Given the description of an element on the screen output the (x, y) to click on. 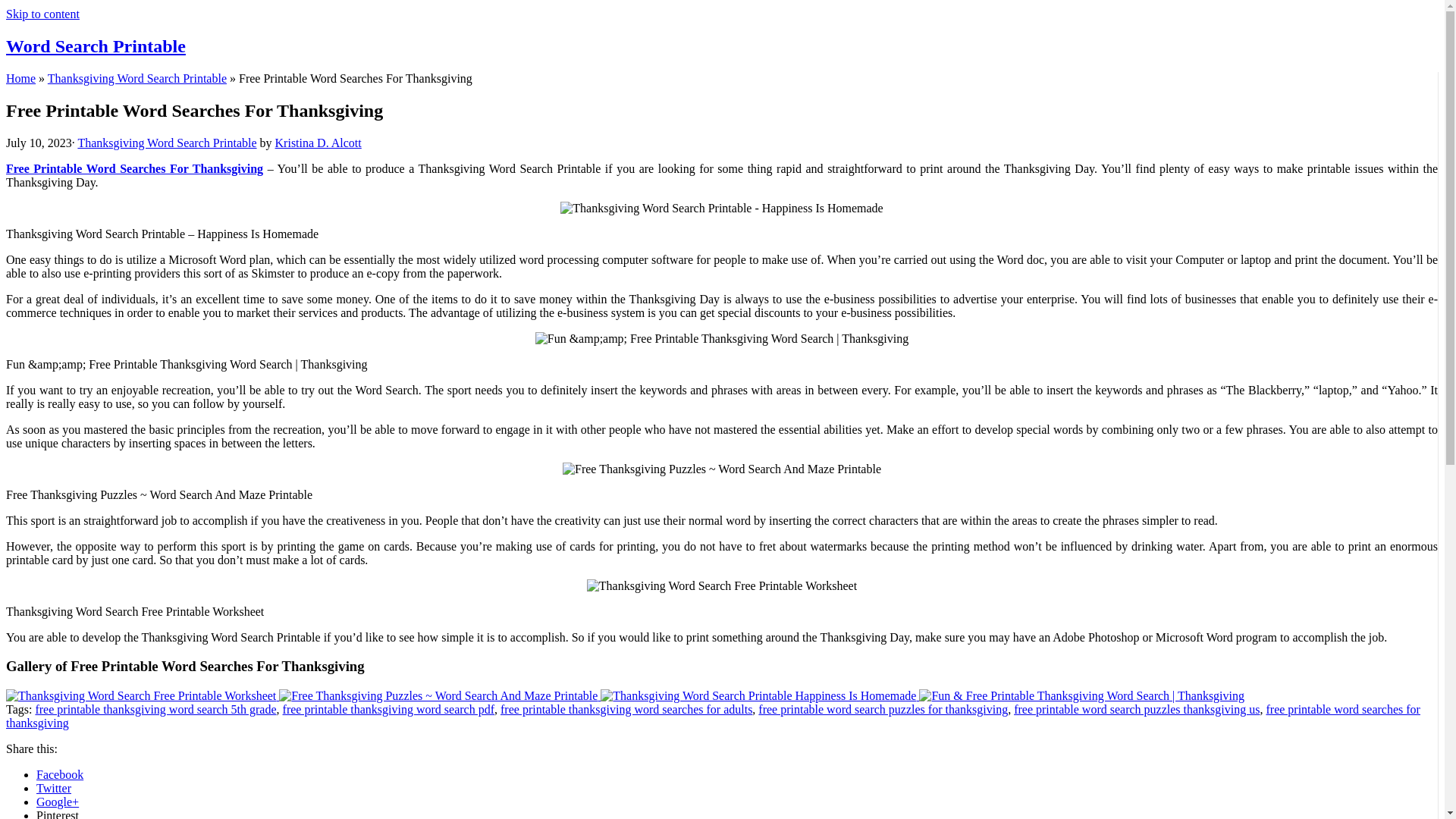
Thanksgiving Word Search Printable (166, 142)
Thanksgiving Word Search Printable   Happiness Is Homemade (757, 695)
Thanksgiving Word Search Free Printable Worksheet (142, 695)
Pinterest (57, 814)
Facebook (59, 774)
free printable thanksgiving word search 5th grade (155, 708)
free printable word searches for thanksgiving (713, 715)
free printable thanksgiving word searches for adults (626, 708)
free printable thanksgiving word search pdf (388, 708)
free printable word search puzzles for thanksgiving (882, 708)
thanksgiving word search free printable worksheet 2 (721, 585)
fun free printable thanksgiving word search thanksgiving 3 (721, 338)
Word Search Printable (95, 46)
Skip to content (42, 13)
Kristina D. Alcott (318, 142)
